Given the description of an element on the screen output the (x, y) to click on. 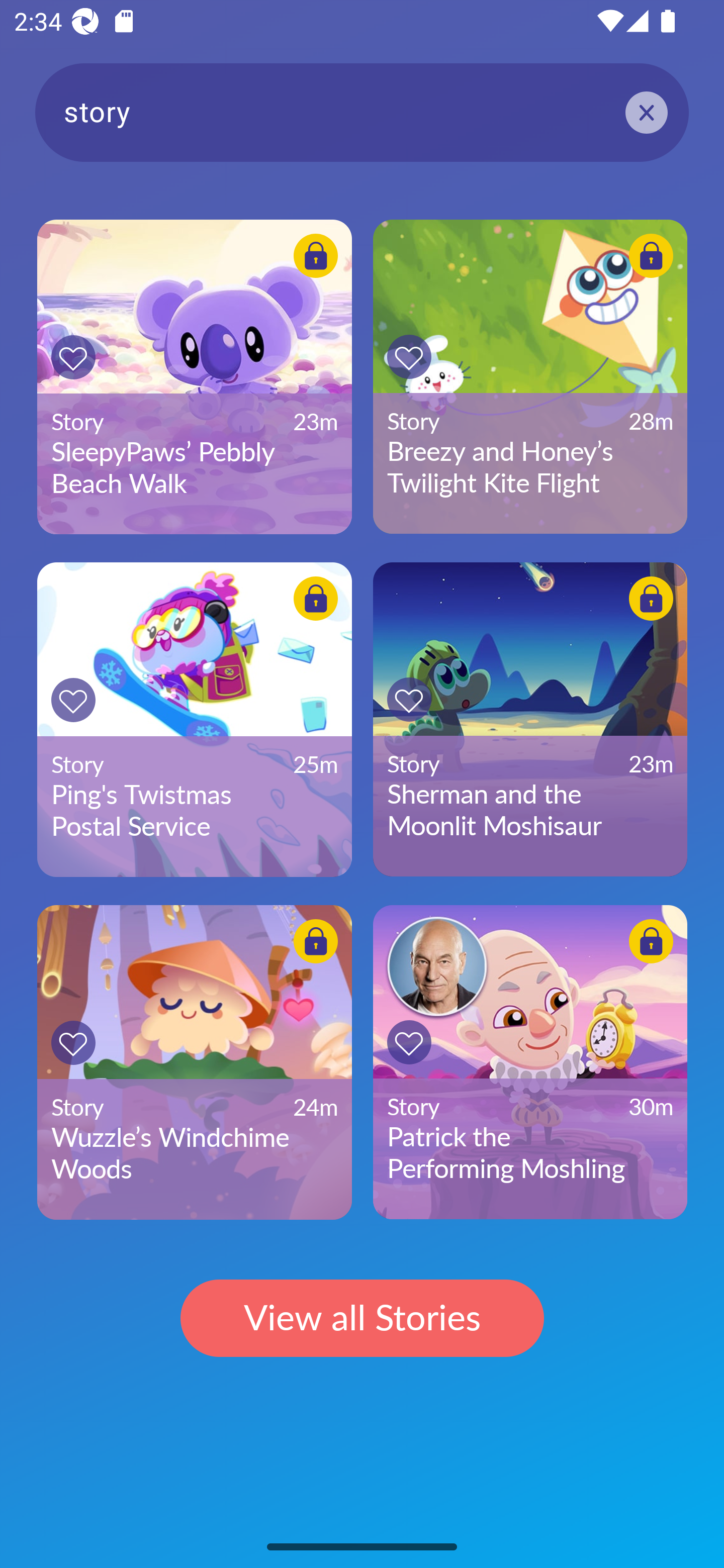
story (361, 111)
Button (315, 255)
Button (650, 255)
Button (409, 356)
Button (73, 357)
Button (315, 598)
Button (650, 598)
Button (409, 698)
Button (73, 699)
Button (315, 940)
Button (650, 940)
Button (409, 1042)
Button (73, 1042)
View all Stories (361, 1318)
